Given the description of an element on the screen output the (x, y) to click on. 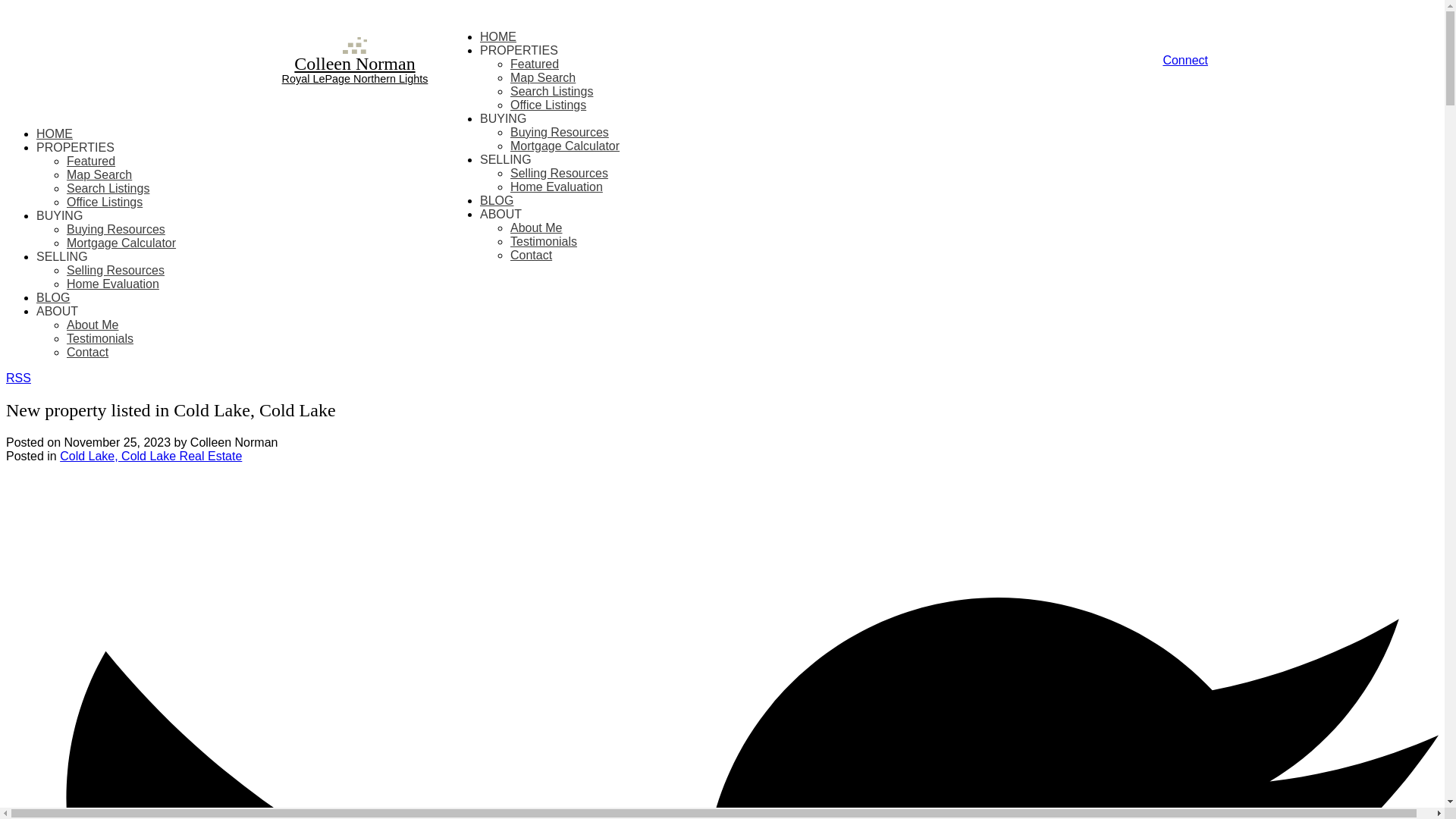
Cold Lake, Cold Lake Real Estate (150, 455)
Search Listings (107, 187)
Home Evaluation (556, 186)
HOME (498, 37)
BLOG (496, 201)
Contact (86, 351)
About Me (91, 324)
Map Search (99, 174)
HOME (54, 133)
